Given the description of an element on the screen output the (x, y) to click on. 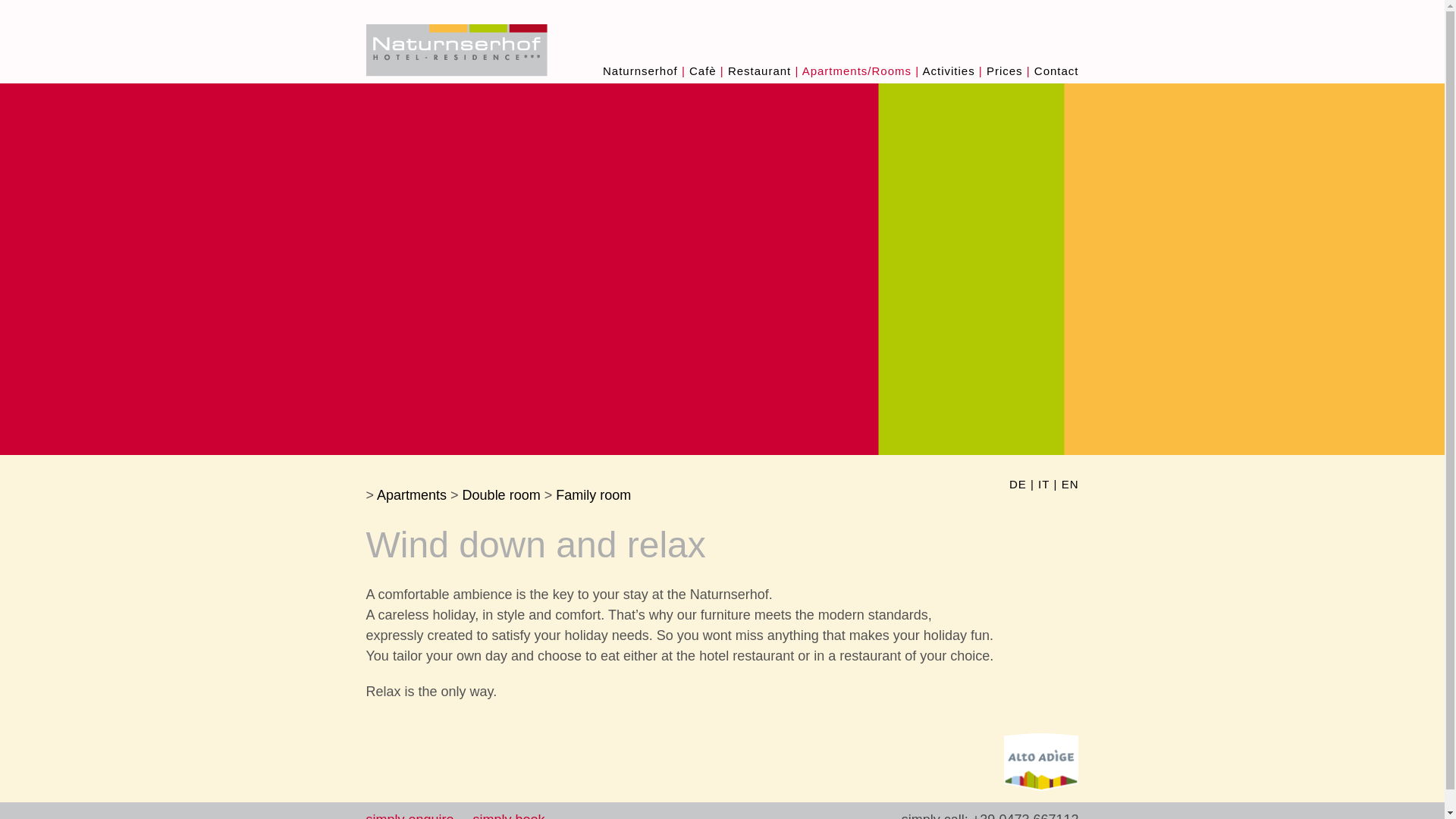
Opens internal link in current window (506, 815)
simply enquire (408, 815)
Prices (1005, 70)
simply book (506, 815)
Apartments (411, 494)
DE (1017, 485)
Naturnserhof (640, 70)
Contact (1055, 70)
Double room (501, 494)
Opens internal link in current window (408, 815)
EN (1069, 485)
Restaurant (759, 70)
Family room (593, 494)
Activities (947, 70)
